Given the description of an element on the screen output the (x, y) to click on. 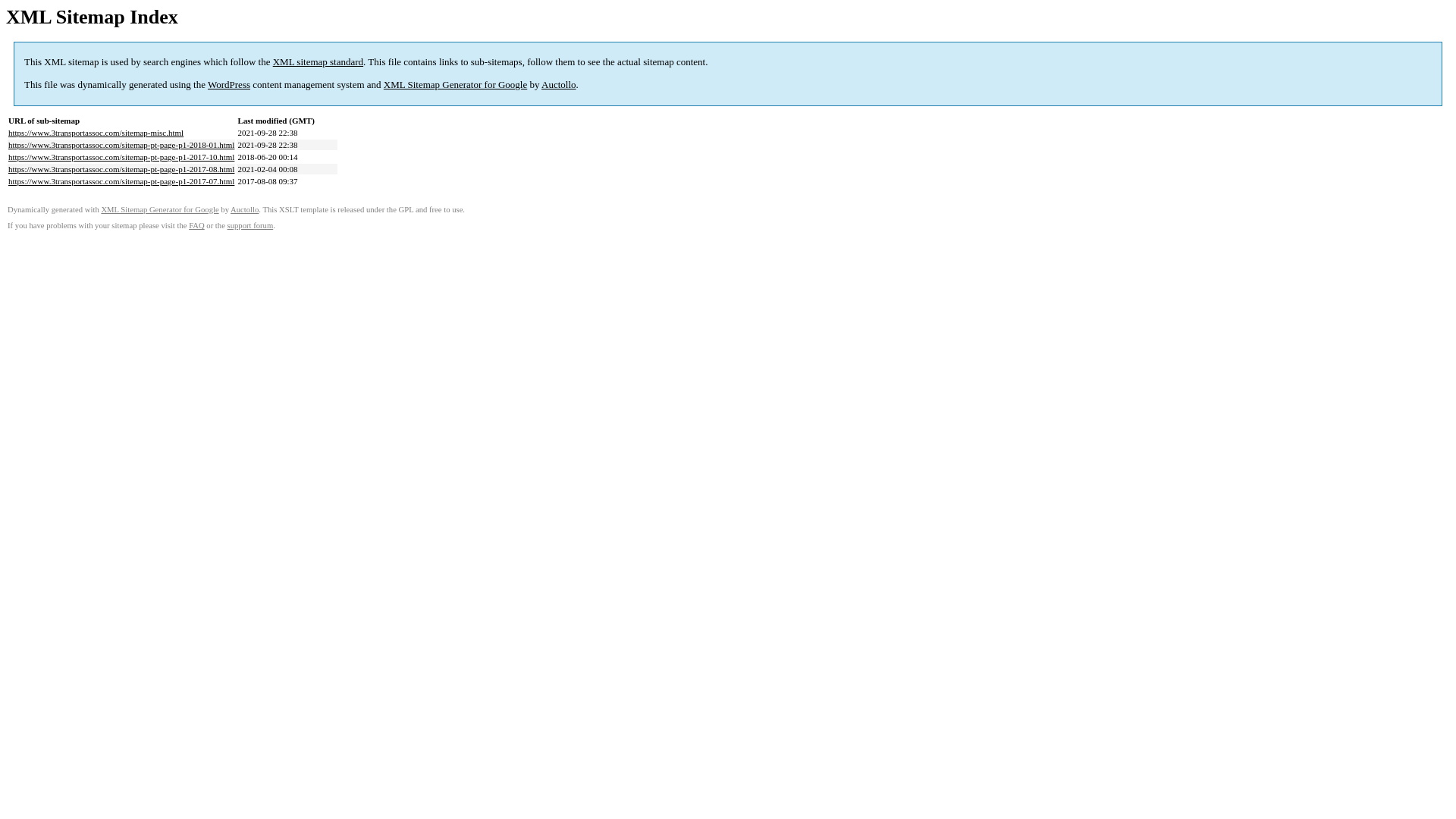
WordPress Element type: text (228, 84)
Auctollo Element type: text (558, 84)
XML sitemap standard Element type: text (318, 61)
Auctollo Element type: text (244, 209)
FAQ Element type: text (196, 225)
XML Sitemap Generator for Google Element type: text (159, 209)
support forum Element type: text (250, 225)
https://www.3transportassoc.com/sitemap-misc.html Element type: text (95, 132)
XML Sitemap Generator for Google Element type: text (455, 84)
